Given the description of an element on the screen output the (x, y) to click on. 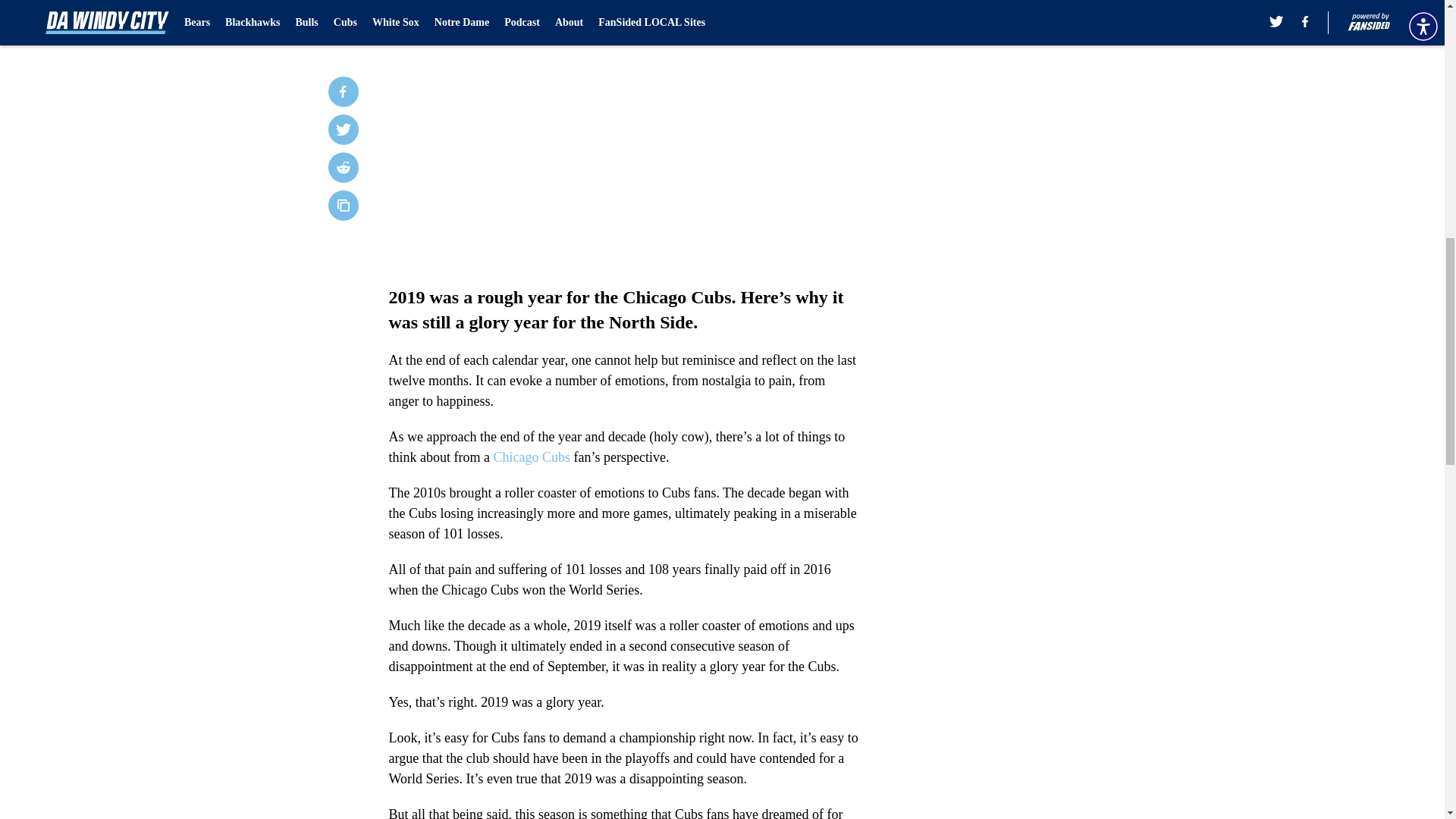
Chicago Cubs (531, 457)
